Given the description of an element on the screen output the (x, y) to click on. 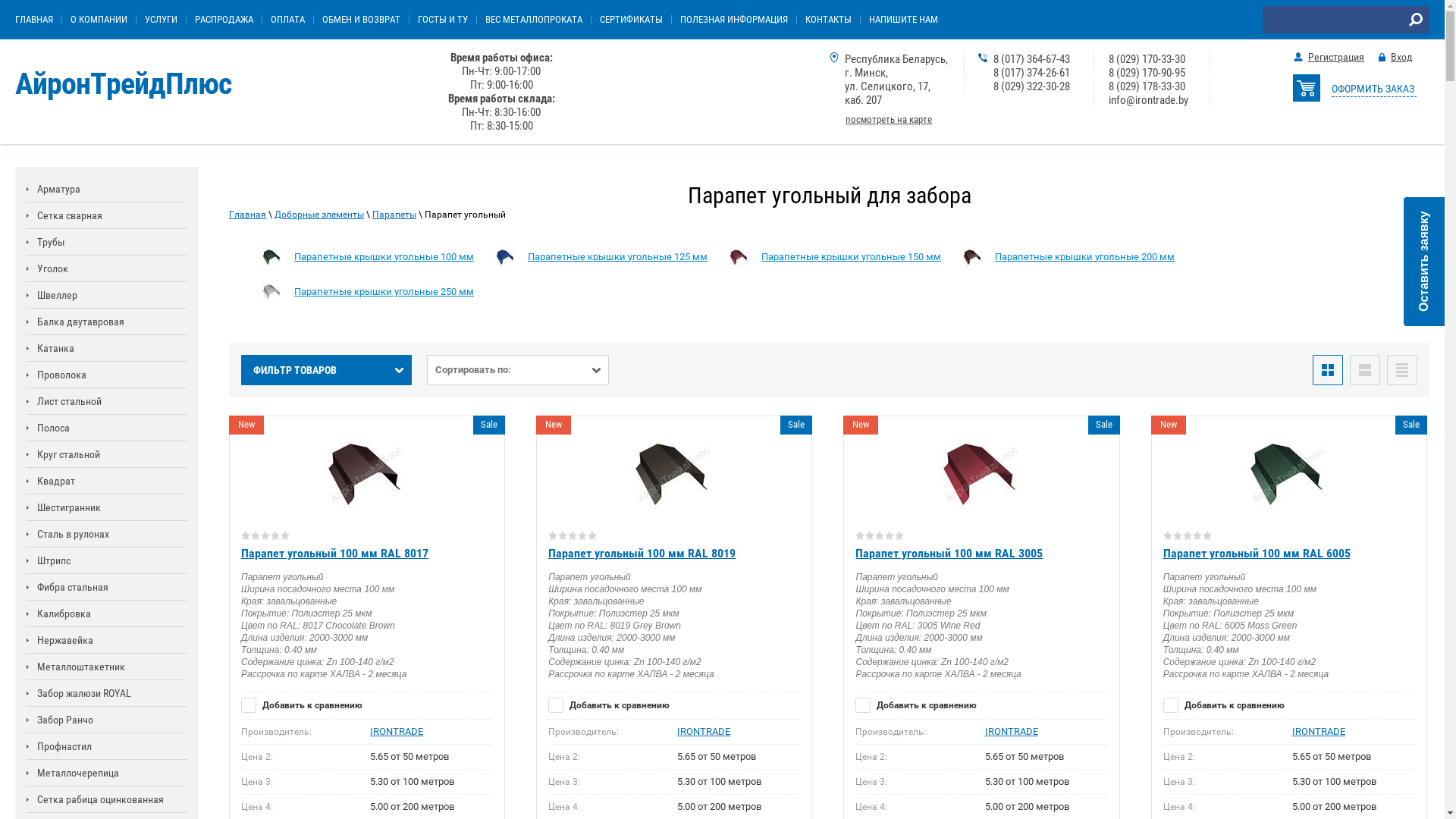
IRONTRADE Element type: text (1010, 731)
info@irontrade.by Element type: text (1148, 99)
8 (029) 170-33-30 Element type: text (1146, 58)
8 (029) 322-30-28 Element type: text (1031, 86)
8 (029) 170-90-95 Element type: text (1146, 72)
IRONTRADE Element type: text (703, 731)
8 (029) 178-33-30 Element type: text (1146, 86)
IRONTRADE Element type: text (1318, 731)
8 (017) 364-67-43 Element type: text (1031, 58)
IRONTRADE Element type: text (396, 731)
8 (017) 374-26-61 Element type: text (1031, 72)
